Given the description of an element on the screen output the (x, y) to click on. 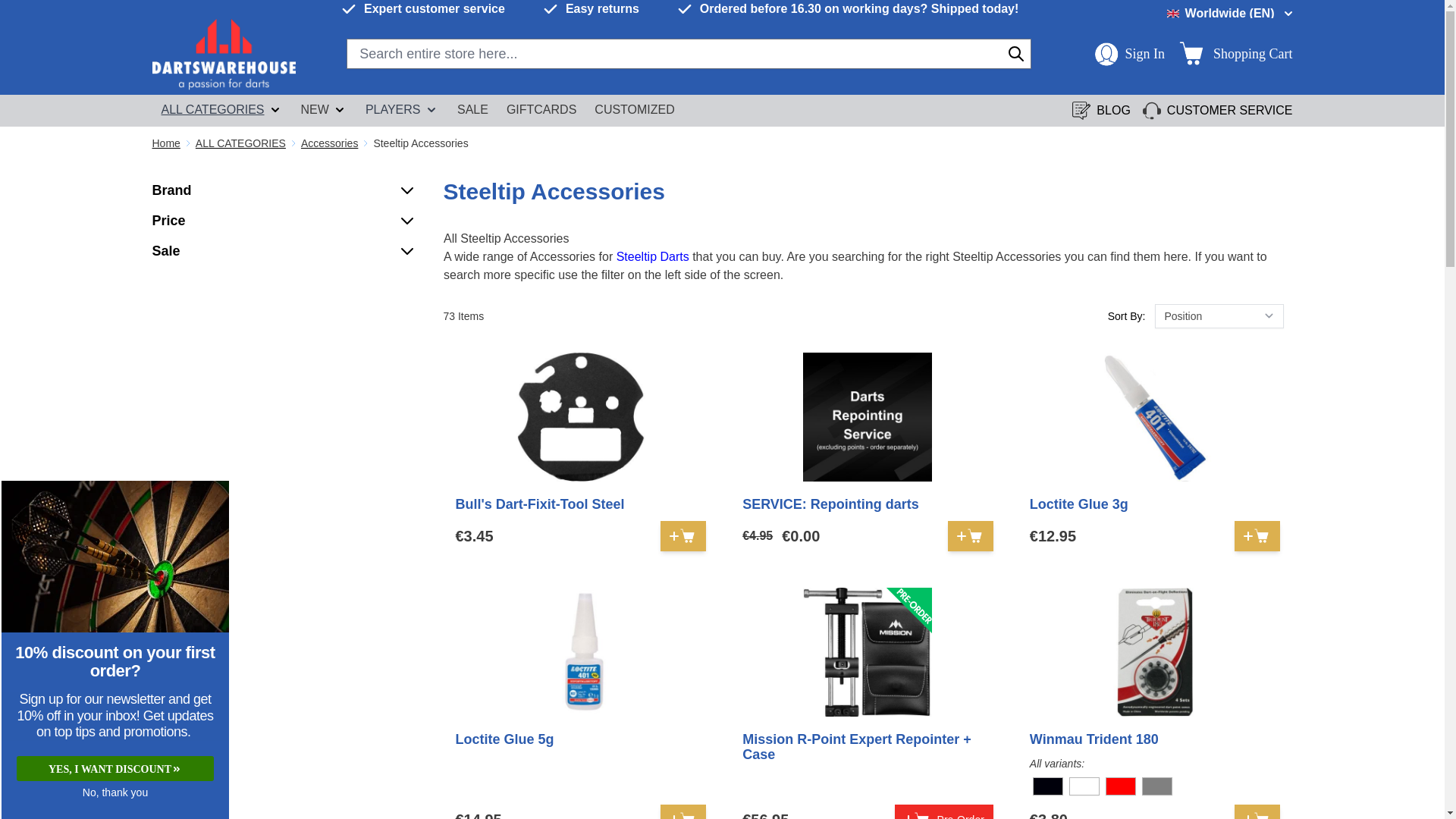
2642 (1120, 787)
2641 (1084, 787)
2651 (1157, 787)
2640 (1048, 787)
